Given the description of an element on the screen output the (x, y) to click on. 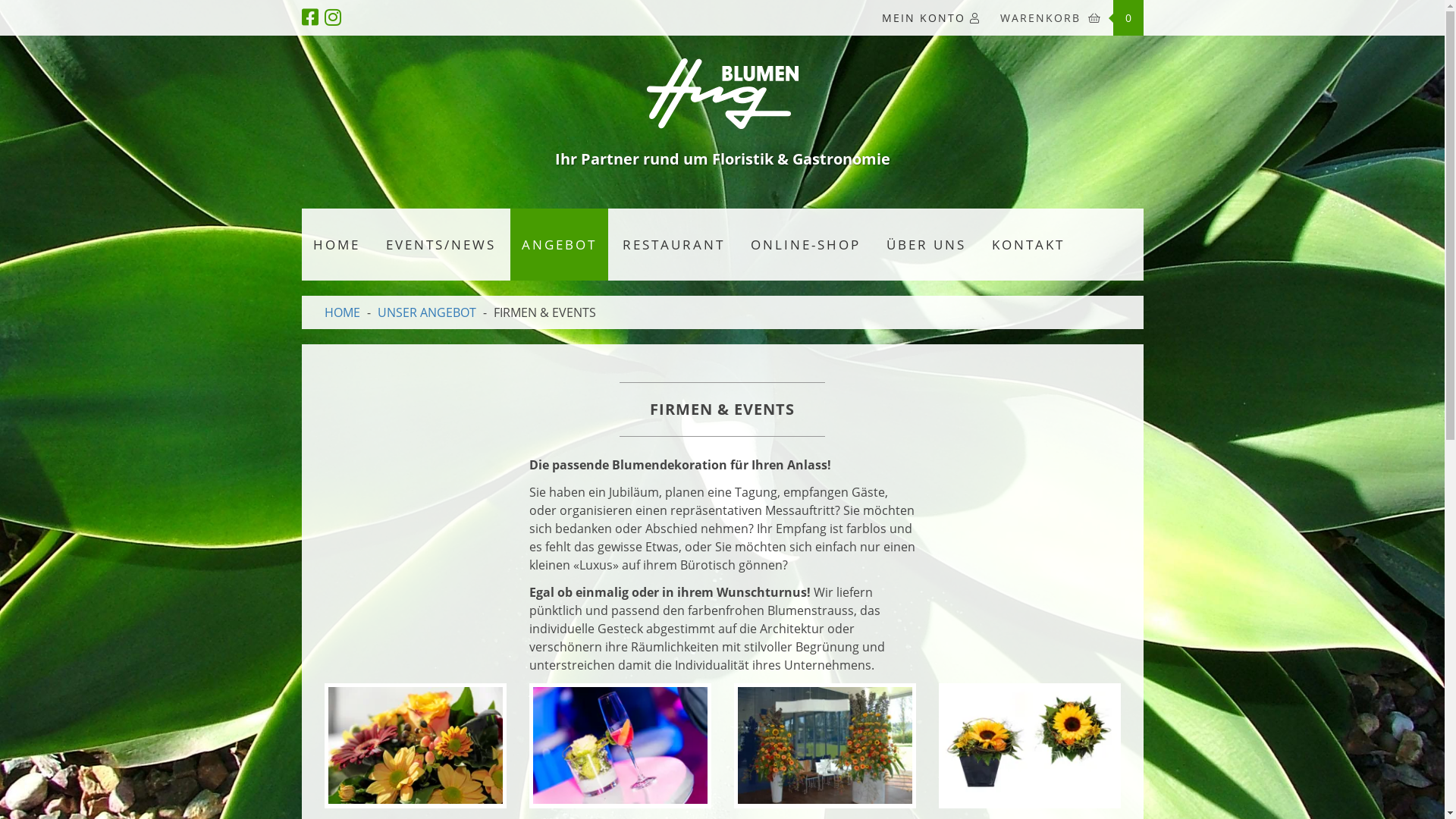
EVENTS/NEWS Element type: text (440, 244)
Banquettarrangement Element type: hover (825, 745)
HOME Element type: text (342, 312)
WARENKORB 0 Element type: text (1066, 17)
RESTAURANT Element type: text (673, 244)
Zur Startseite Element type: hover (721, 124)
Tischarrangement Element type: hover (415, 745)
UNSER ANGEBOT Element type: text (426, 312)
MEIN KONTO Element type: text (931, 17)
ONLINE-SHOP Element type: text (804, 244)
KONTAKT Element type: text (1027, 244)
Tischdekoration Element type: hover (620, 745)
ANGEBOT Element type: text (558, 244)
HOME Element type: text (336, 244)
Tischdekoration Element type: hover (1029, 745)
